Given the description of an element on the screen output the (x, y) to click on. 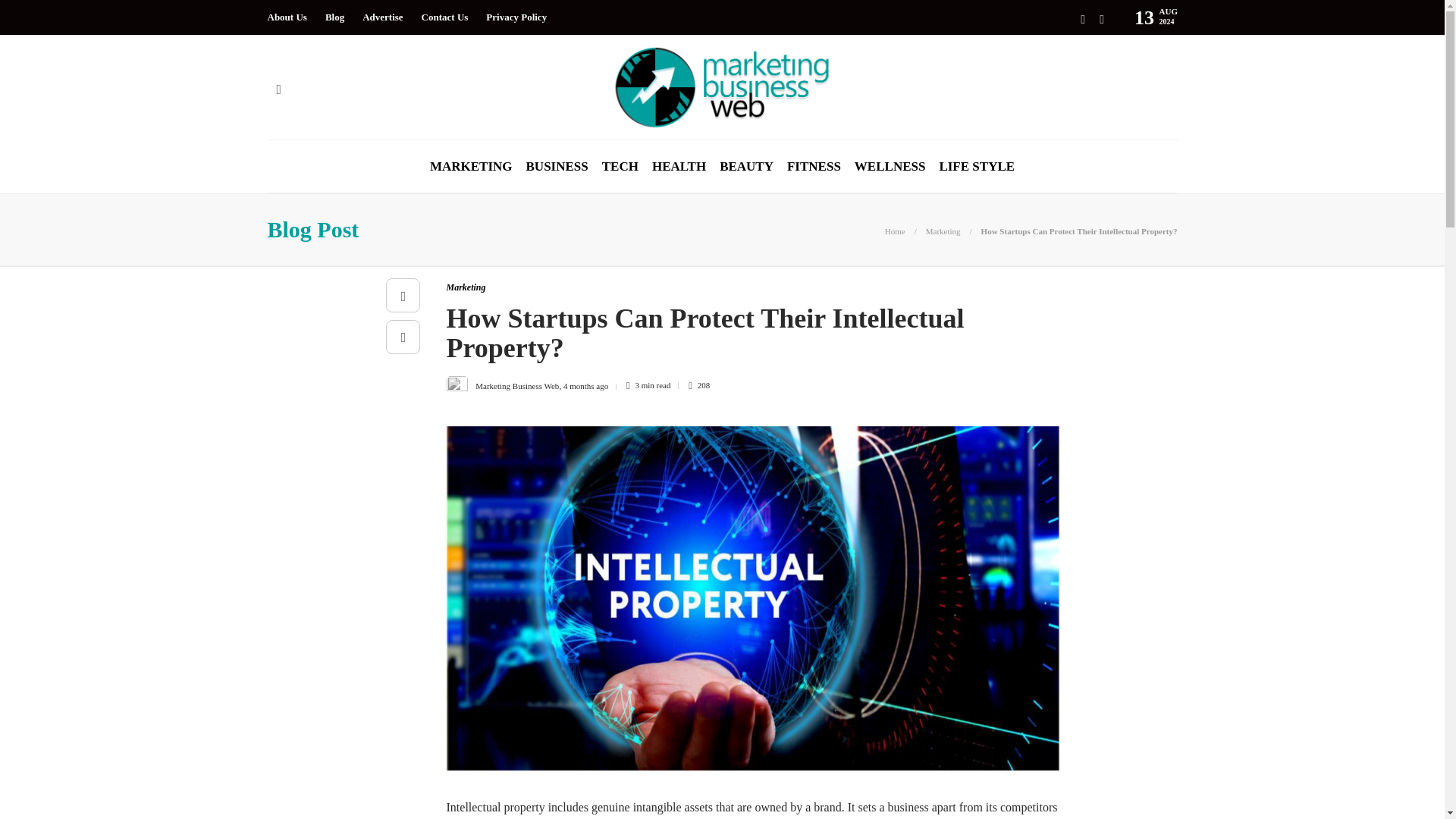
Marketing (943, 230)
Contact Us (445, 17)
HEALTH (679, 166)
WELLNESS (890, 166)
Advertise (382, 17)
LIFE STYLE (976, 166)
BUSINESS (556, 166)
About Us (285, 17)
How Startups Can Protect Their Intellectual Property? (1079, 230)
Home (895, 230)
